Given the description of an element on the screen output the (x, y) to click on. 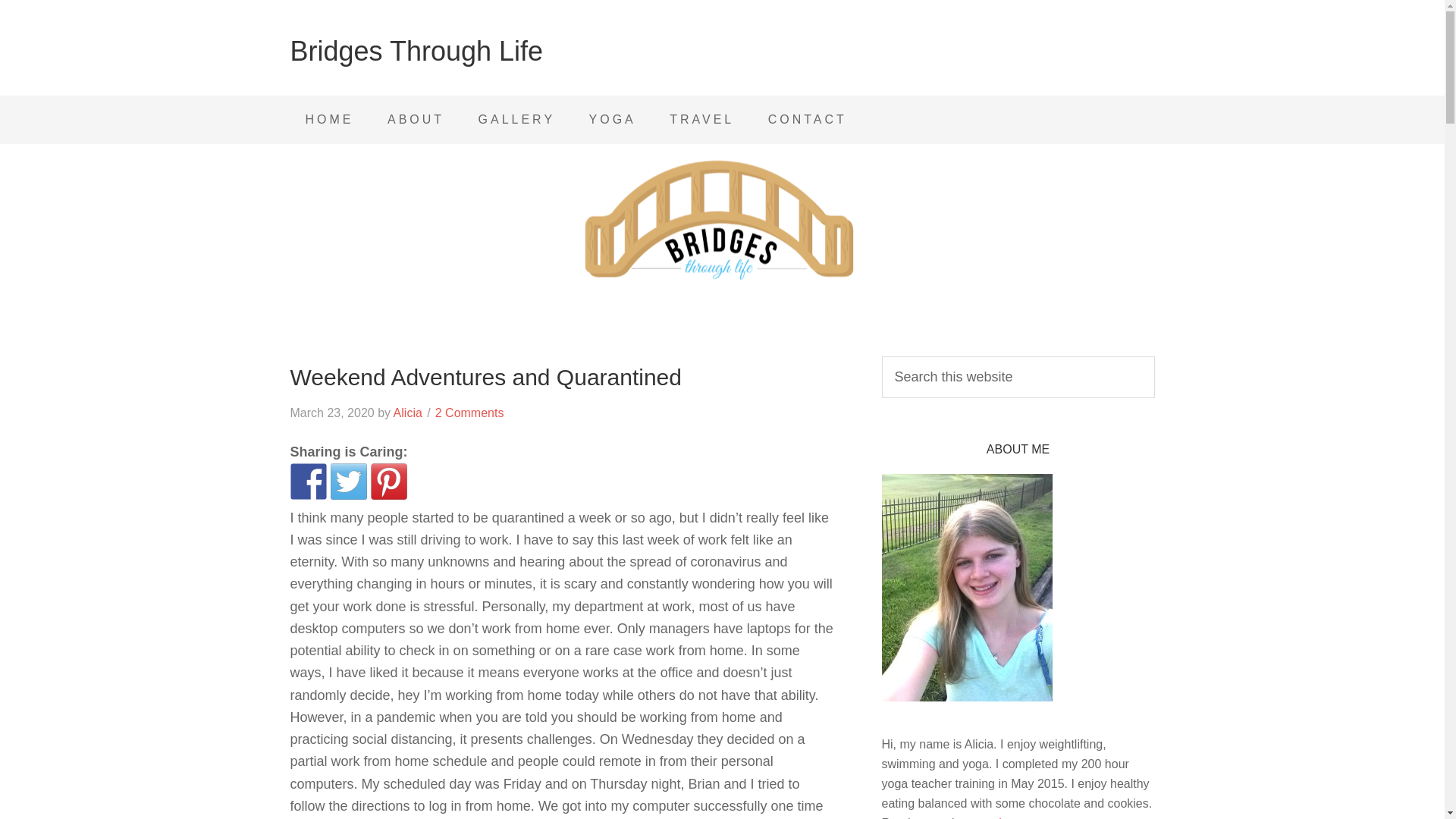
Bridges Through Life (416, 51)
Alicia (407, 412)
GALLERY (516, 119)
here (1010, 817)
Pin it with Pinterest (387, 481)
2 Comments (469, 412)
YOGA (611, 119)
ABOUT (416, 119)
